Given the description of an element on the screen output the (x, y) to click on. 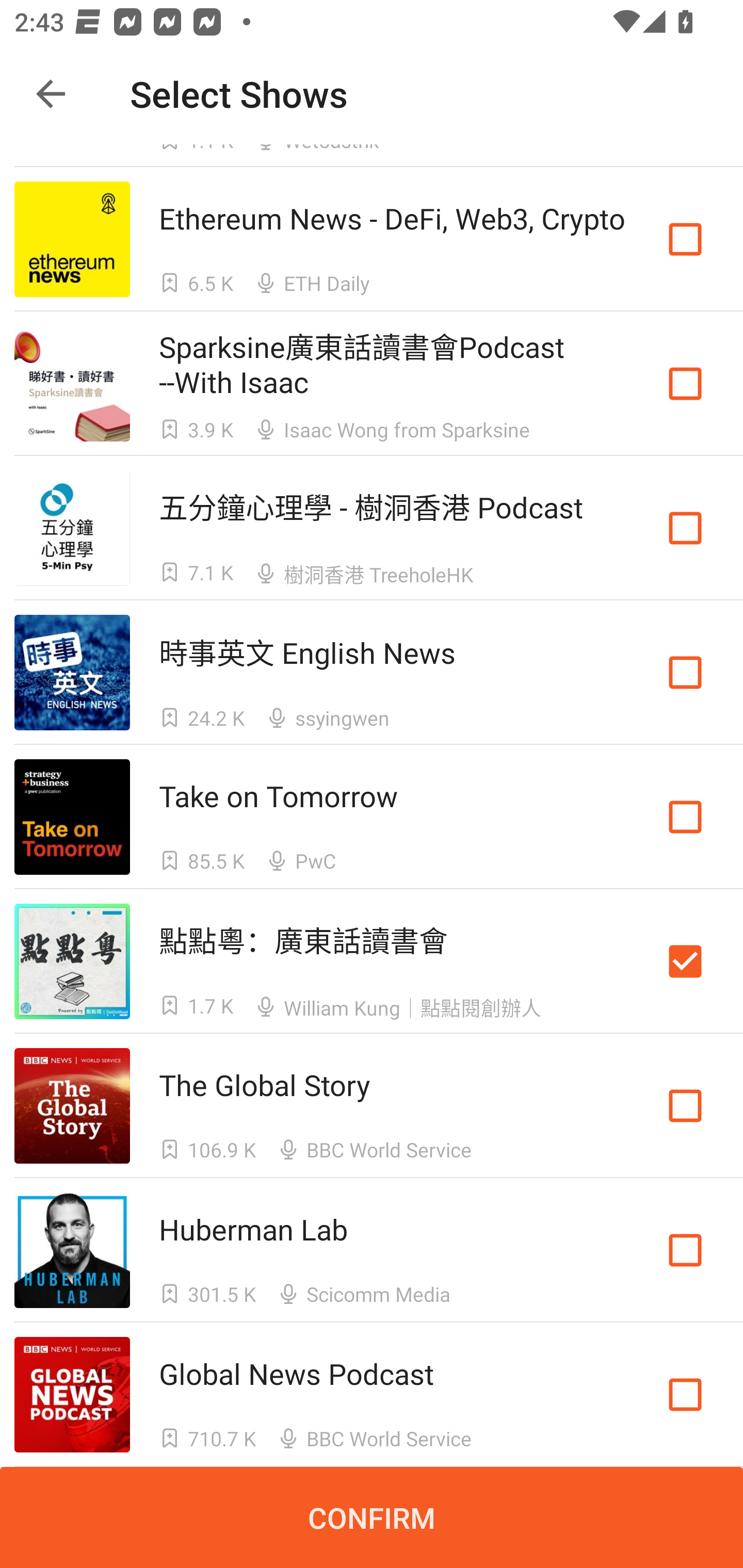
Navigate up (50, 93)
Take on Tomorrow Take on Tomorrow  85.5 K  PwC (371, 816)
CONFIRM (371, 1517)
